Given the description of an element on the screen output the (x, y) to click on. 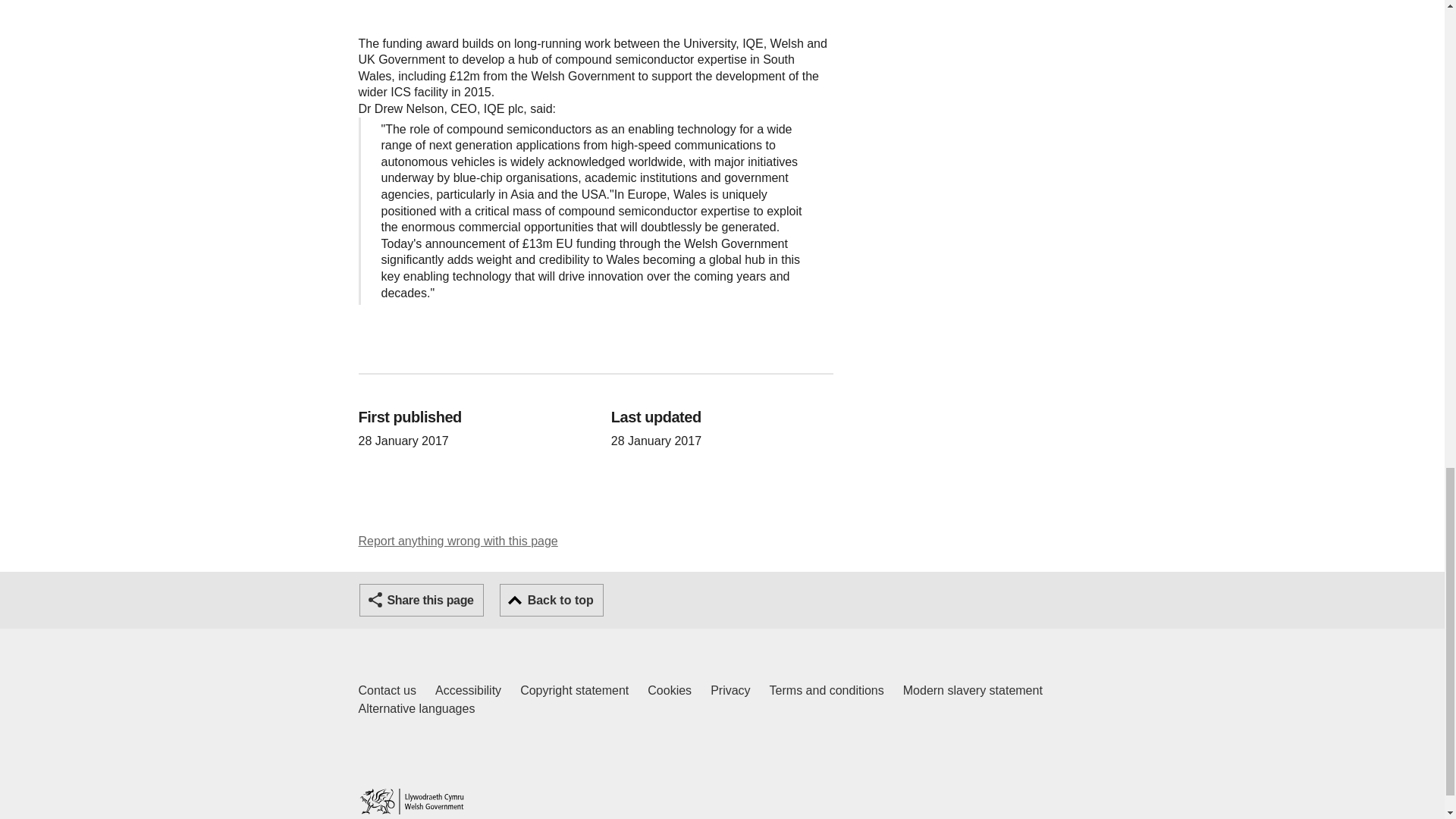
Terms and conditions (826, 690)
Accessibility (467, 690)
Privacy (729, 690)
Report anything wrong with this page (386, 690)
Share this page (457, 540)
Copyright statement (421, 599)
Home (573, 690)
Cookies (411, 801)
Modern slavery statement (669, 690)
